Given the description of an element on the screen output the (x, y) to click on. 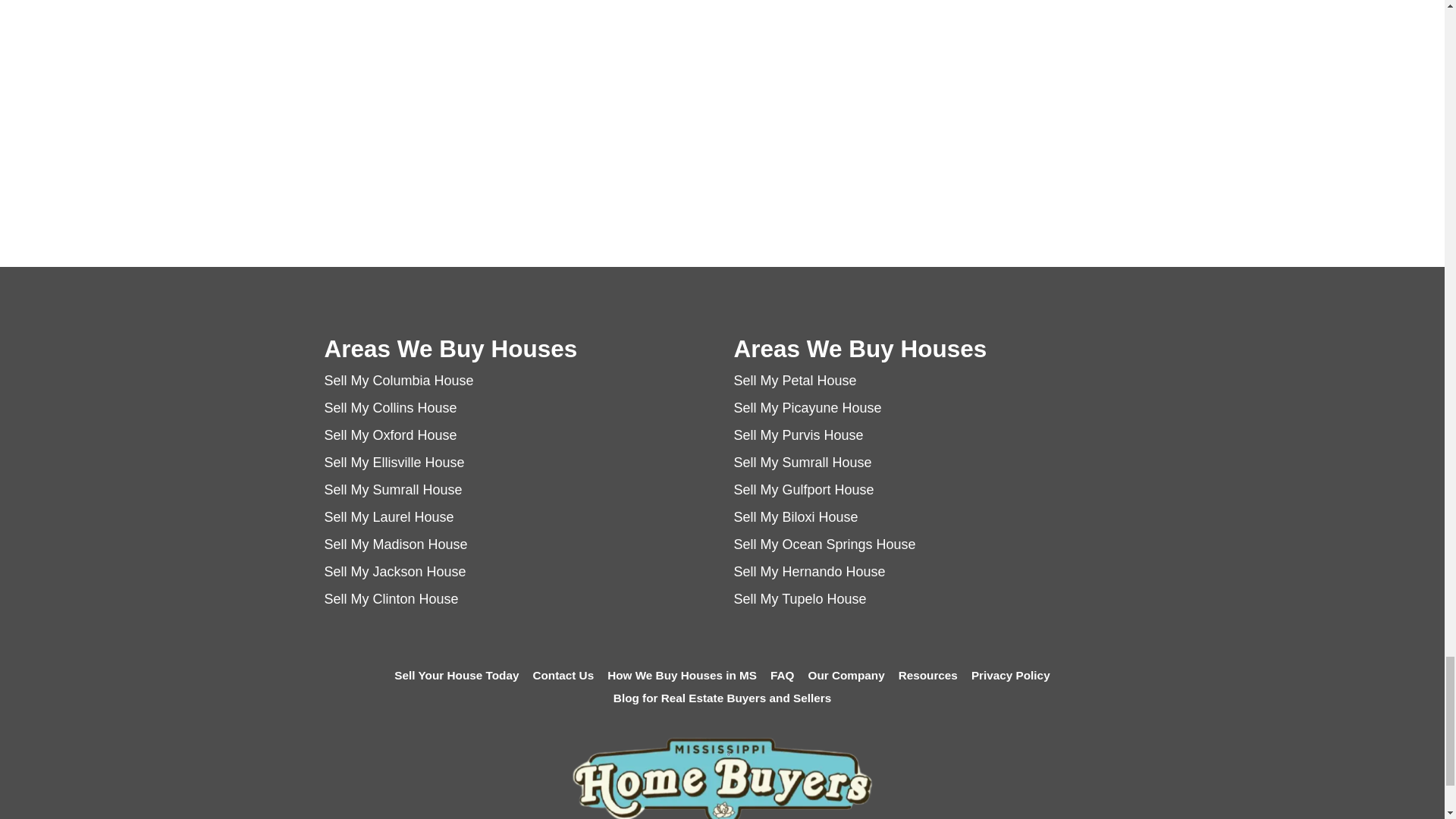
Sell My Collins House (390, 407)
Sell My Picayune House (807, 407)
Sell My Sumrall House (802, 462)
Sell My Petal House (795, 380)
Sell My Oxford House (390, 435)
Sell My Ellisville House (394, 462)
Sell My Purvis House (798, 435)
Sell My Sumrall House (393, 489)
Sell My Madison House (395, 544)
Sell My Jackson House (394, 571)
